Given the description of an element on the screen output the (x, y) to click on. 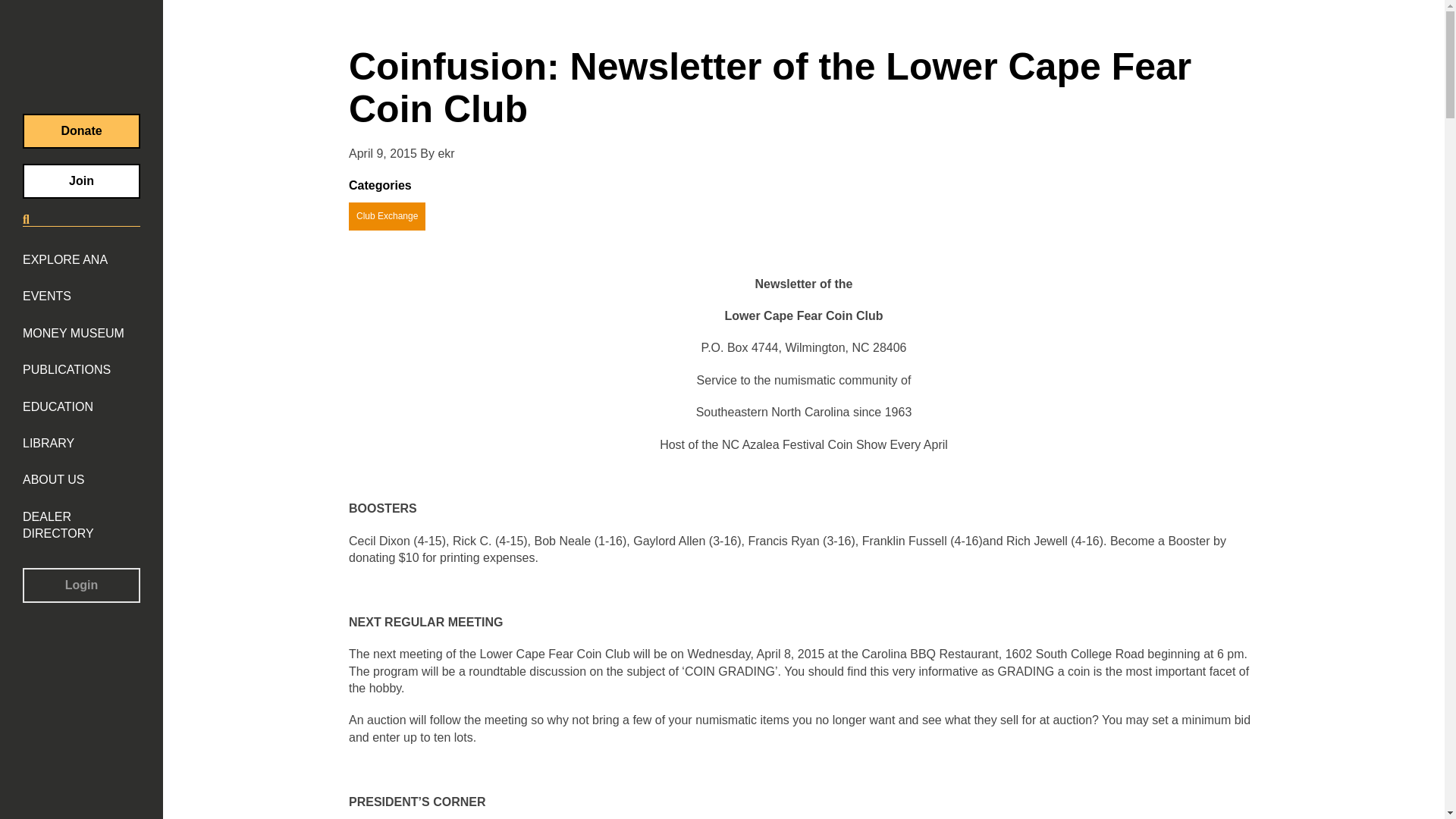
EVENTS (47, 296)
LIBRARY (48, 443)
ABOUT US (53, 479)
PUBLICATIONS (66, 370)
Login (81, 585)
MONEY MUSEUM (73, 333)
Club Exchange (387, 216)
Join (81, 181)
DEALER DIRECTORY (81, 525)
Donate (81, 130)
EDUCATION (58, 407)
EXPLORE ANA (65, 259)
